Given the description of an element on the screen output the (x, y) to click on. 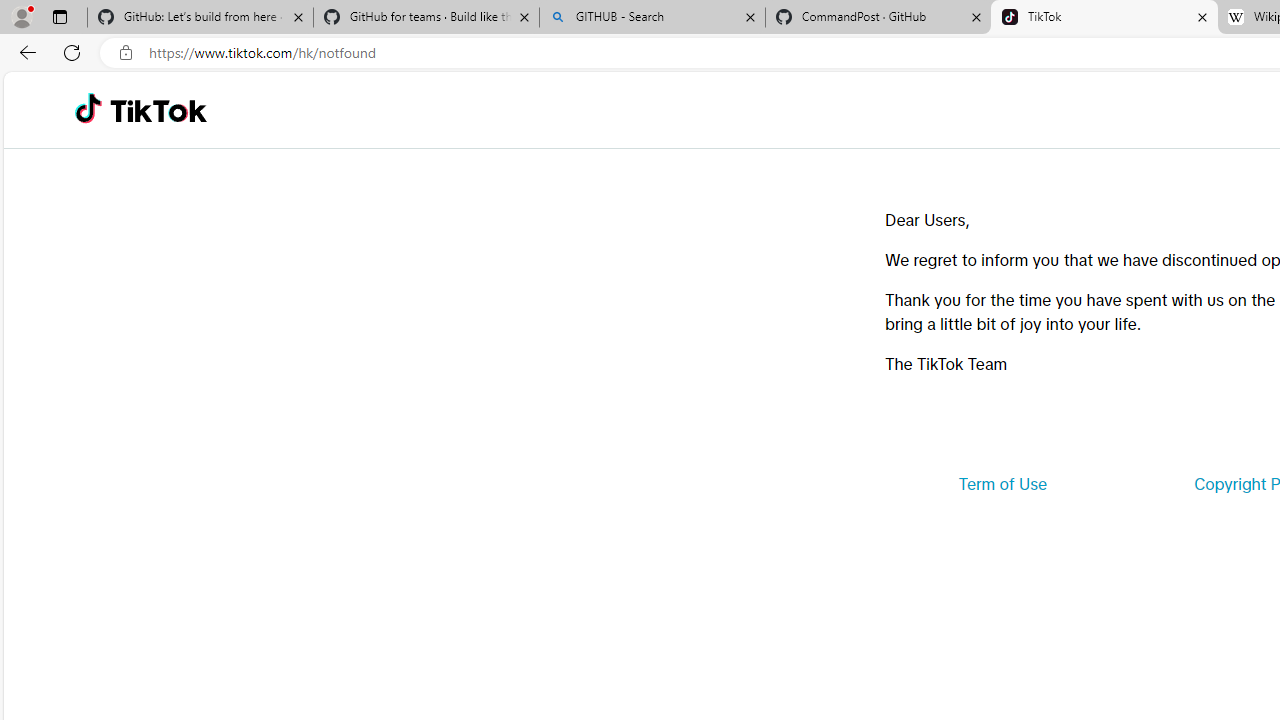
Term of Use (1002, 484)
TikTok (158, 110)
GITHUB - Search (652, 17)
TikTok (1104, 17)
